Given the description of an element on the screen output the (x, y) to click on. 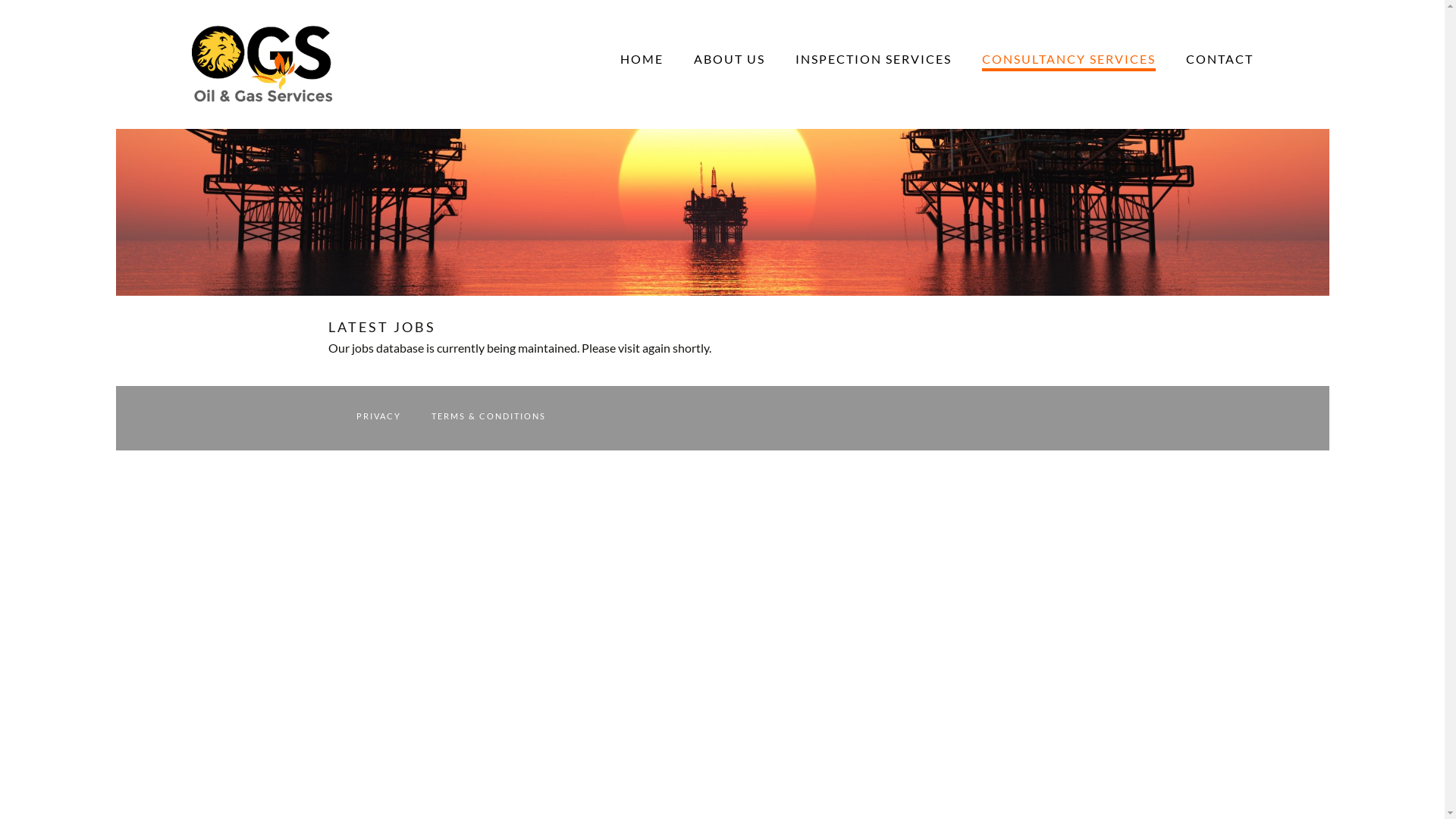
HOME Element type: text (641, 59)
INSPECTION SERVICES Element type: text (872, 59)
CONSULTANCY SERVICES Element type: text (1067, 60)
TERMS & CONDITIONS Element type: text (487, 415)
PRIVACY Element type: text (378, 415)
ABOUT US Element type: text (728, 59)
CONTACT Element type: text (1219, 59)
